Given the description of an element on the screen output the (x, y) to click on. 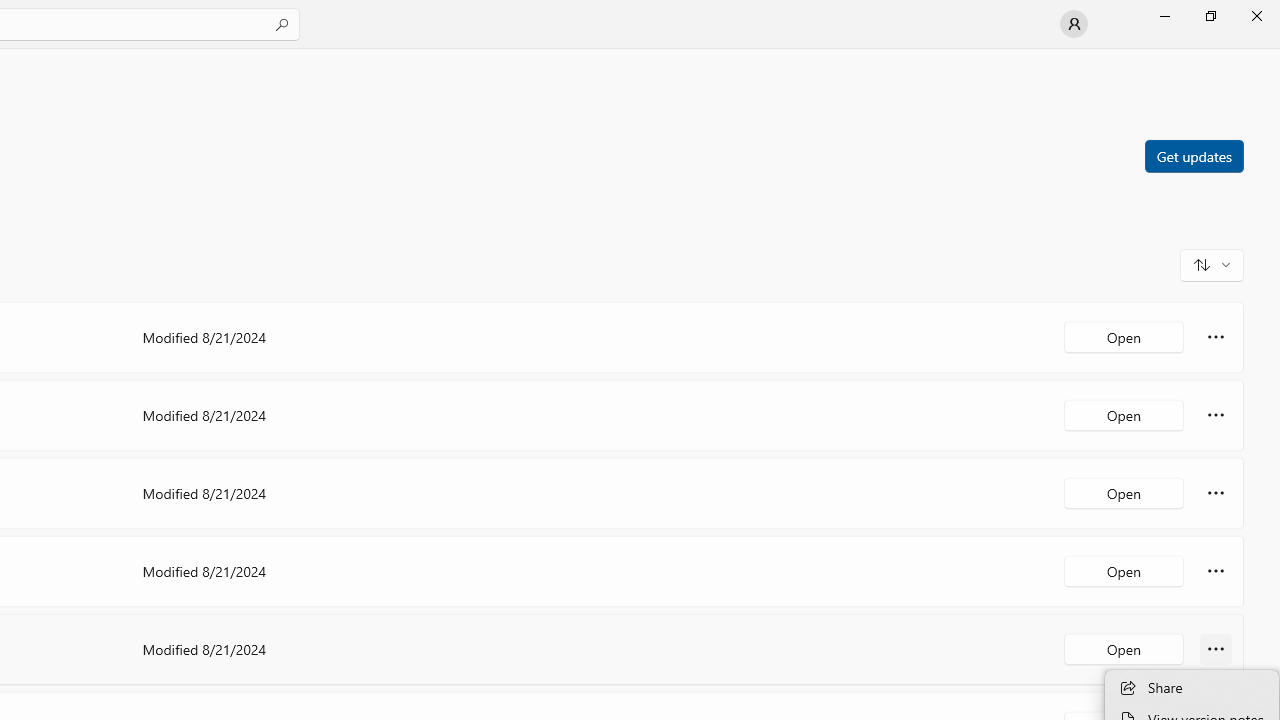
Sort and filter (1212, 263)
More options (1215, 648)
User profile (1073, 24)
Restore Microsoft Store (1210, 15)
Minimize Microsoft Store (1164, 15)
Close Microsoft Store (1256, 15)
Open (1123, 648)
Get updates (1193, 155)
